Given the description of an element on the screen output the (x, y) to click on. 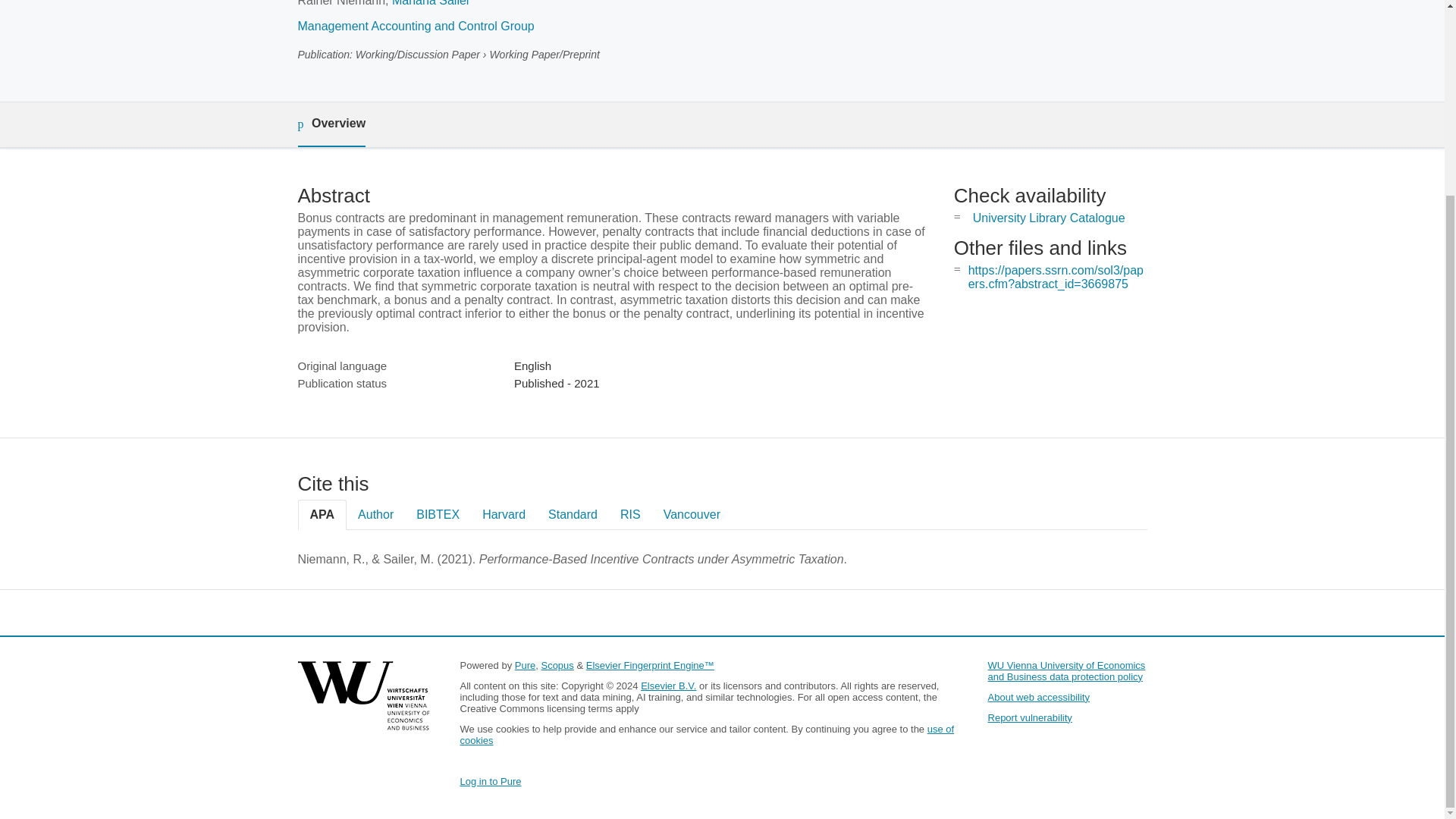
Management Accounting and Control Group (415, 25)
Scopus (556, 665)
Log in to Pure (490, 781)
Report vulnerability (1029, 717)
About web accessibility (1038, 696)
Elsevier B.V. (667, 685)
University Library Catalogue (1048, 217)
Overview (331, 124)
Mariana Sailer (430, 3)
use of cookies (706, 734)
Pure (525, 665)
